Given the description of an element on the screen output the (x, y) to click on. 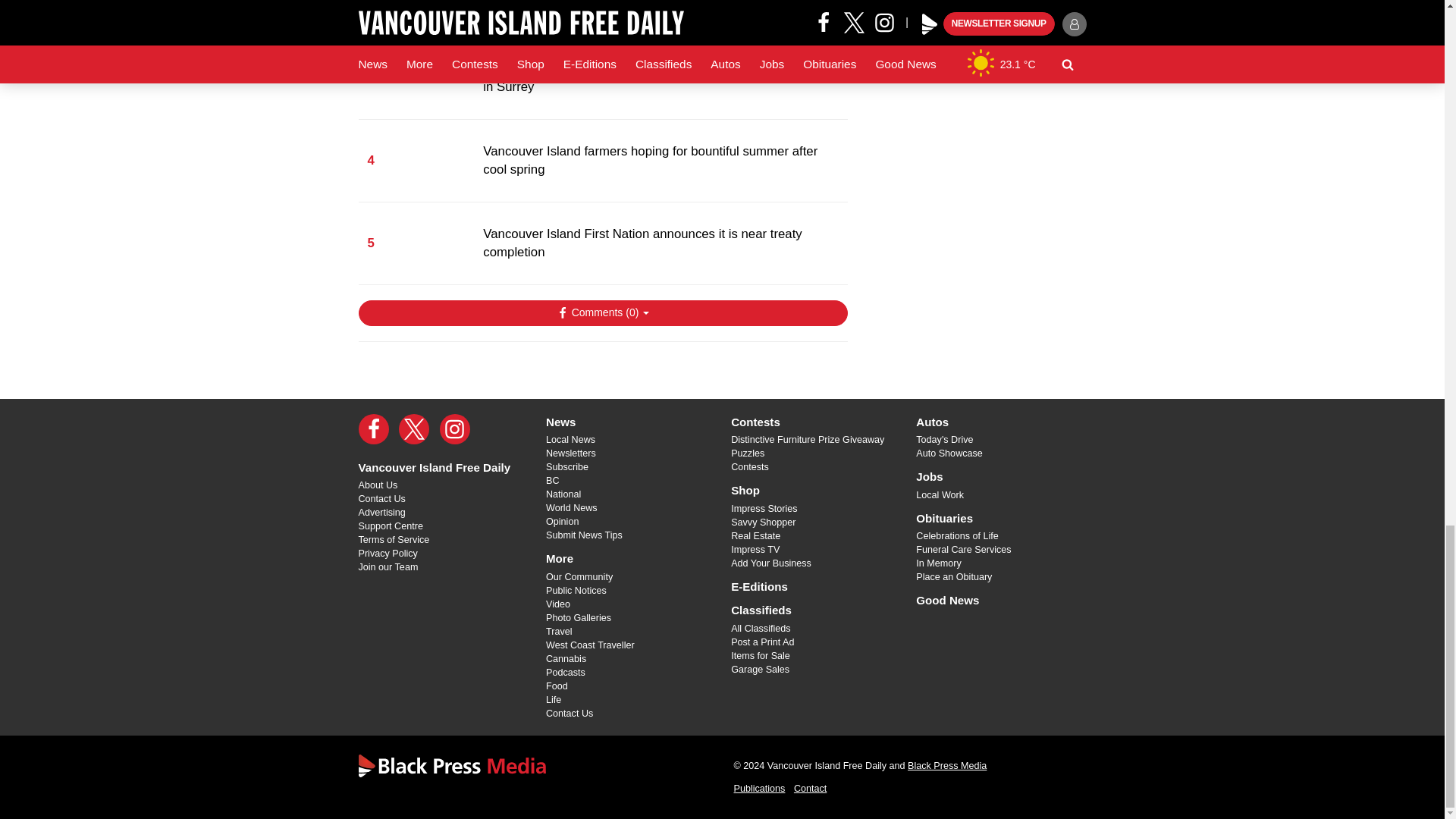
Facebook (373, 429)
Show Comments (602, 312)
X (413, 429)
Instagram (454, 429)
